Given the description of an element on the screen output the (x, y) to click on. 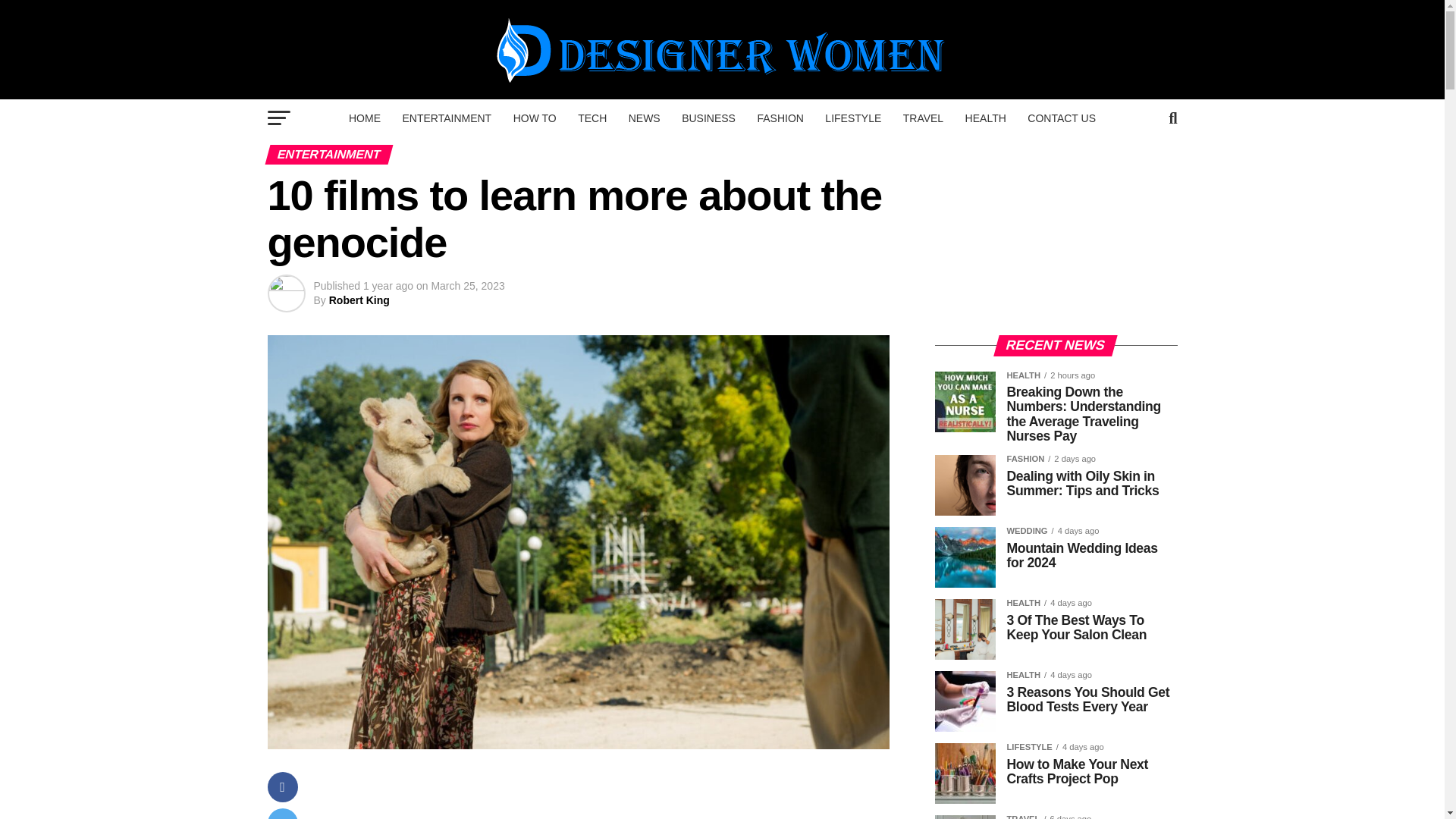
NEWS (644, 118)
TECH (592, 118)
HOW TO (534, 118)
Advertisement (607, 795)
HOME (364, 118)
Posts by Robert King (359, 300)
ENTERTAINMENT (446, 118)
BUSINESS (708, 118)
